Given the description of an element on the screen output the (x, y) to click on. 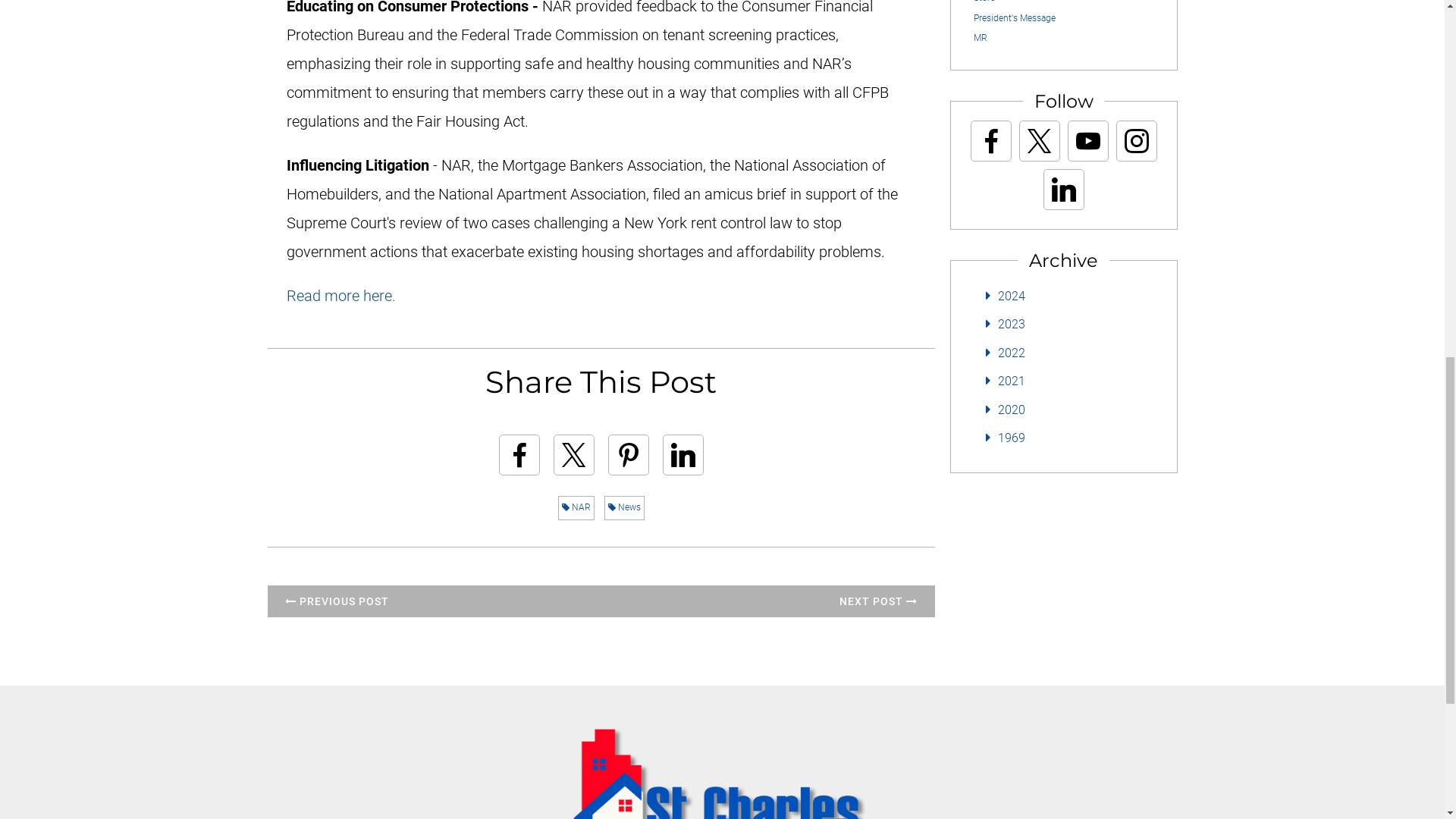
Visit us on YouTube (1087, 140)
Share on Facebook (519, 454)
Share on Pinterest (628, 454)
Visit us on Instagram (1136, 140)
Visit us on Facebook (990, 140)
Visit us on LinkedIn (1063, 189)
Share on Linked In (682, 454)
Share on X (573, 454)
